Given the description of an element on the screen output the (x, y) to click on. 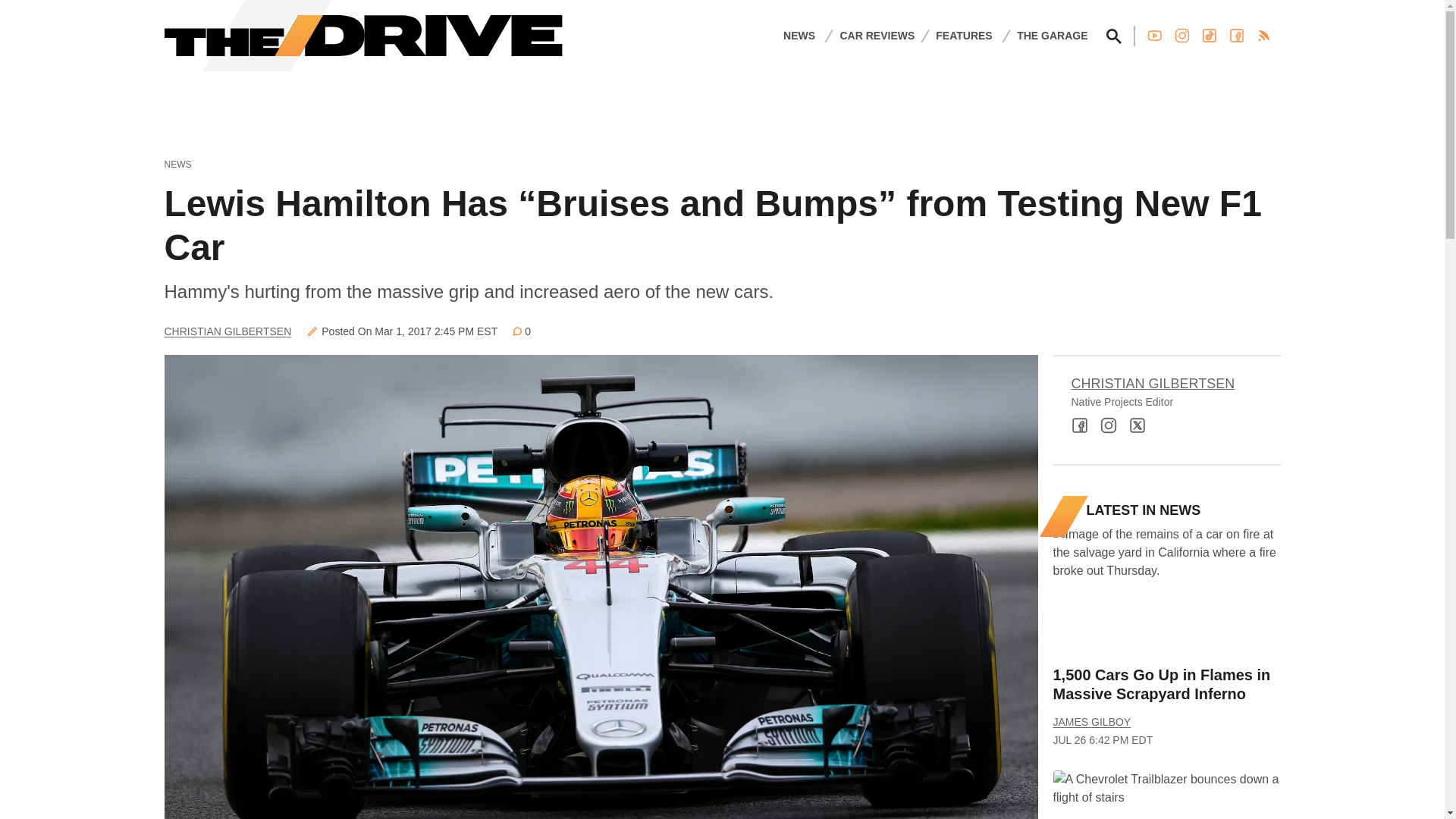
NEWS (799, 34)
